Given the description of an element on the screen output the (x, y) to click on. 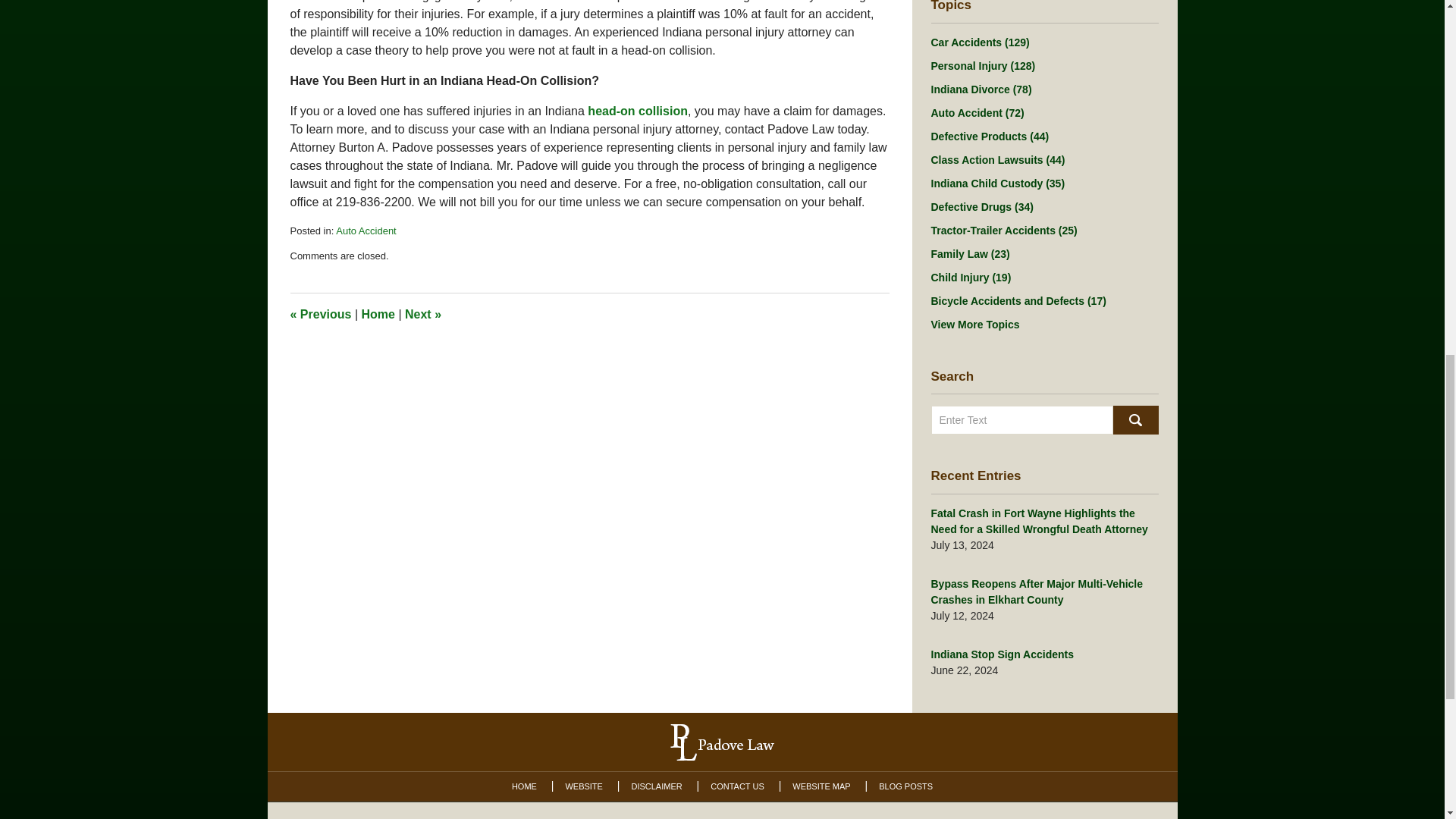
Man Seriously Injured in Indiana Fallen Bicycle Accident (422, 314)
View all posts in Auto Accident (366, 230)
Establishing Fault for Indiana Improper Turn Accidents (319, 314)
head-on collision (637, 110)
Auto Accident (366, 230)
Home (377, 314)
